Given the description of an element on the screen output the (x, y) to click on. 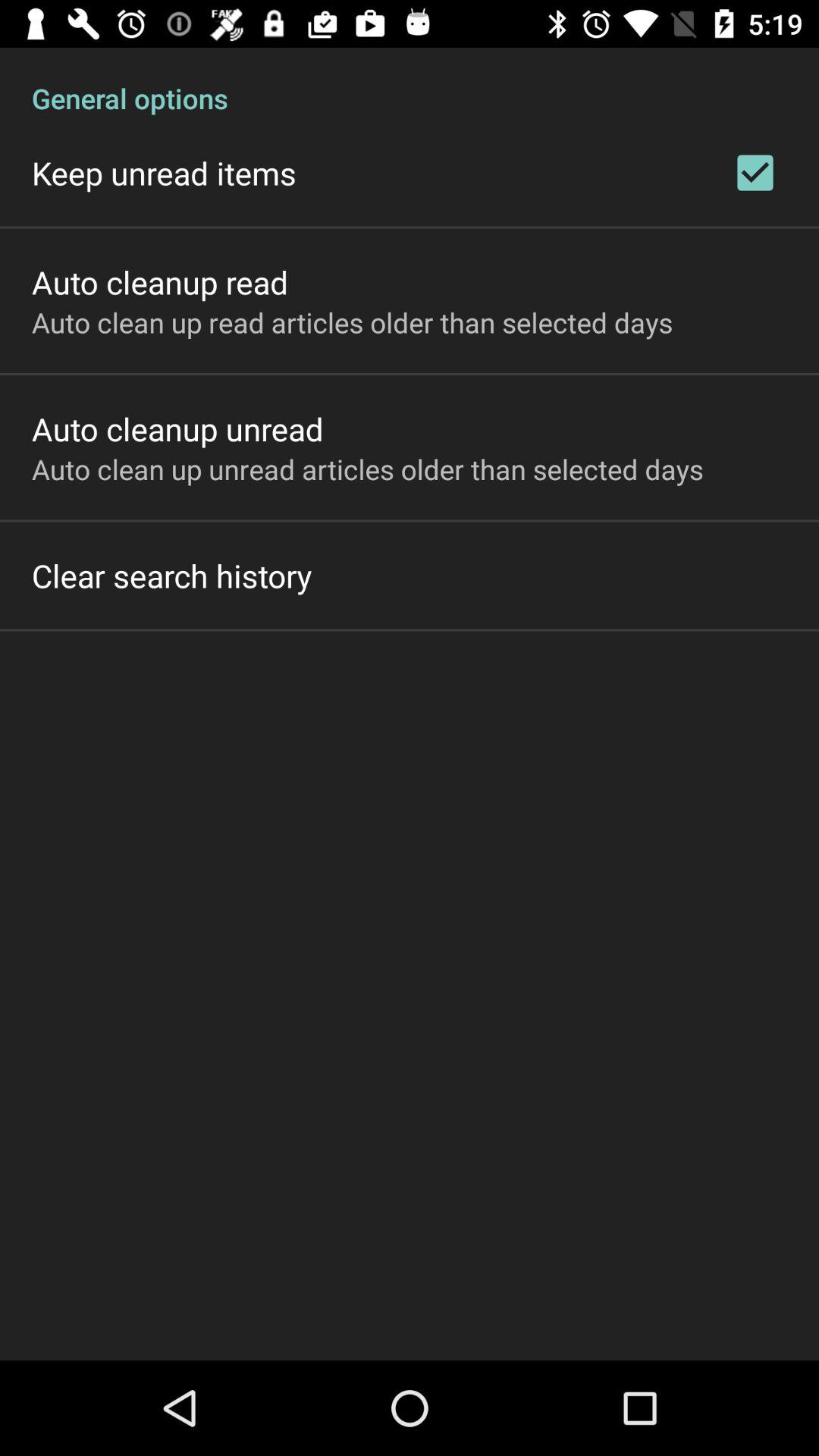
tap item next to the keep unread items icon (755, 172)
